Given the description of an element on the screen output the (x, y) to click on. 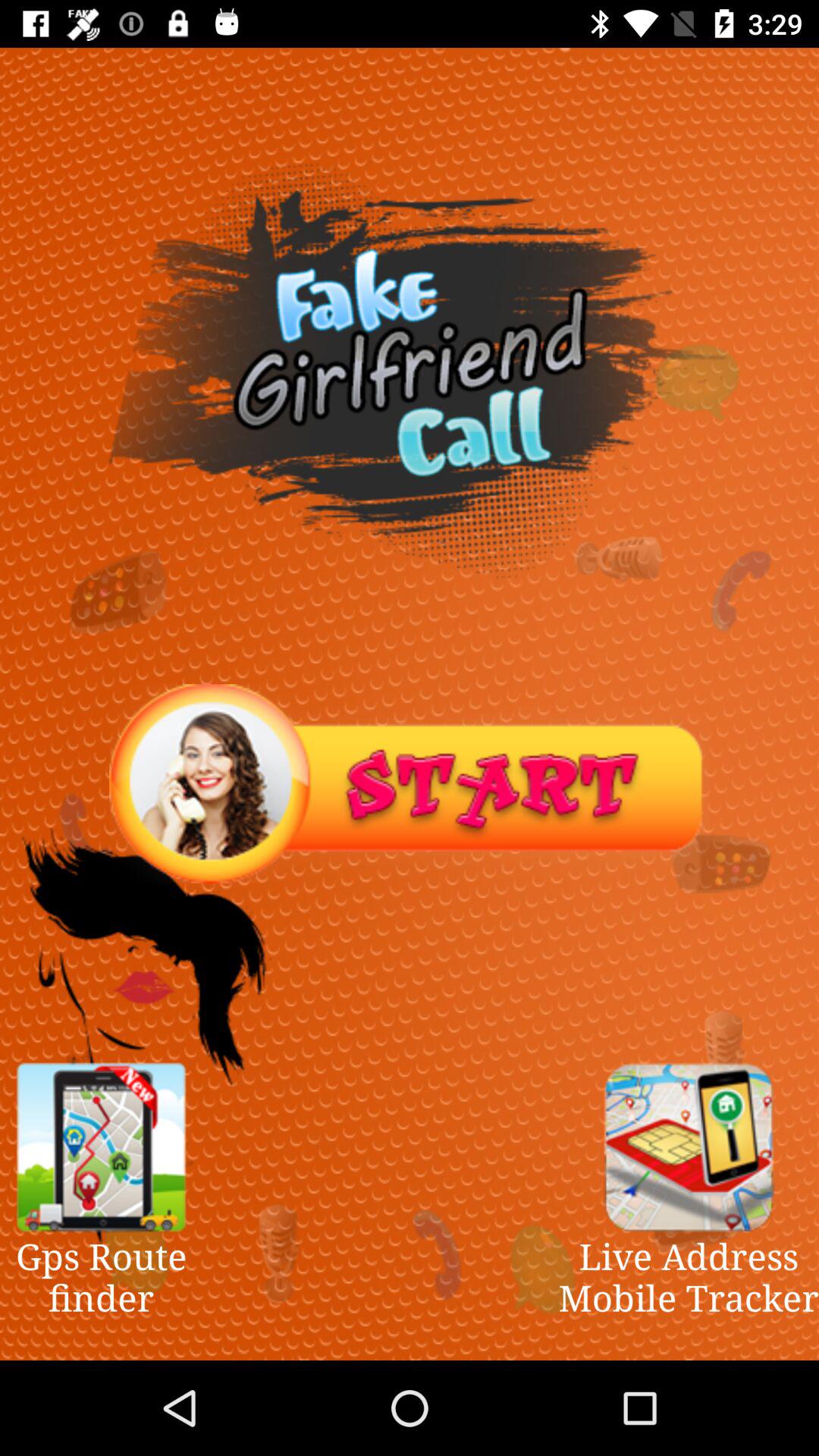
google map (100, 1146)
